Given the description of an element on the screen output the (x, y) to click on. 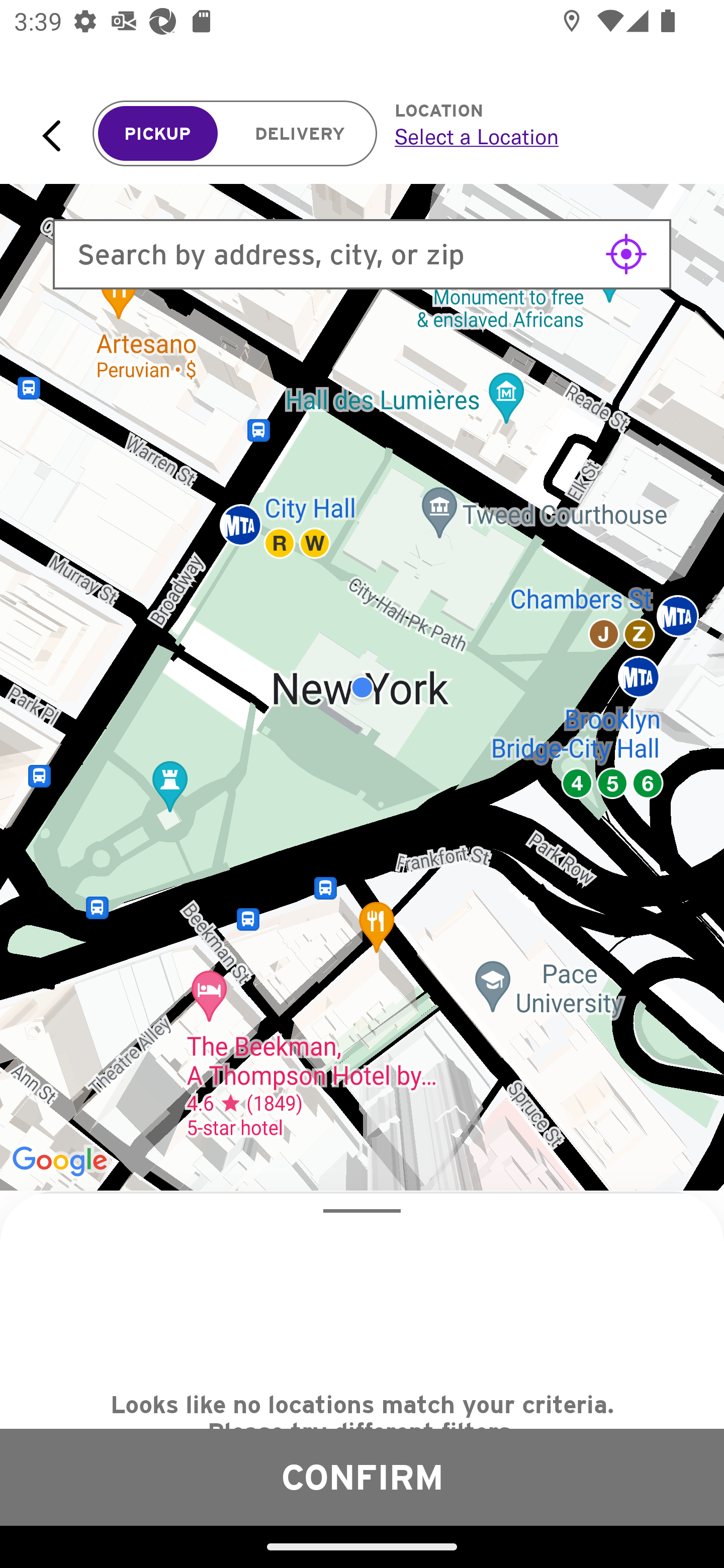
PICKUP (157, 133)
DELIVERY (299, 133)
Select a Location (536, 136)
Search by address, city, or zip (361, 254)
CONFIRM (362, 1476)
